Given the description of an element on the screen output the (x, y) to click on. 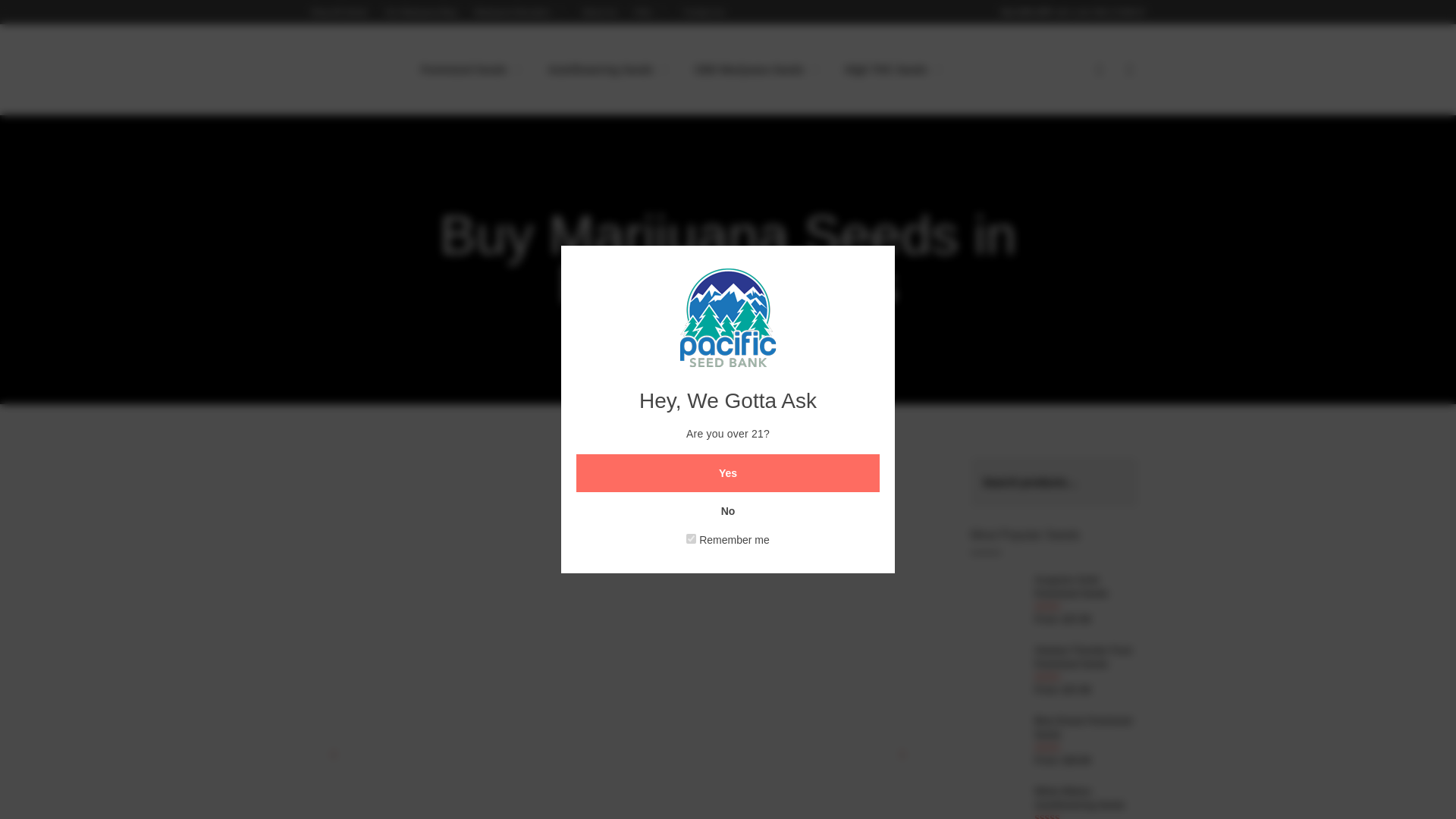
Pacific Seed Bank (349, 70)
1 (690, 538)
About Us (598, 11)
Yes (727, 473)
Shop All Seeds (339, 11)
Marijuana Education (520, 11)
Our Marijuana Blog (421, 11)
No (727, 510)
Feminized Seeds (472, 69)
FAQ (649, 11)
